Given the description of an element on the screen output the (x, y) to click on. 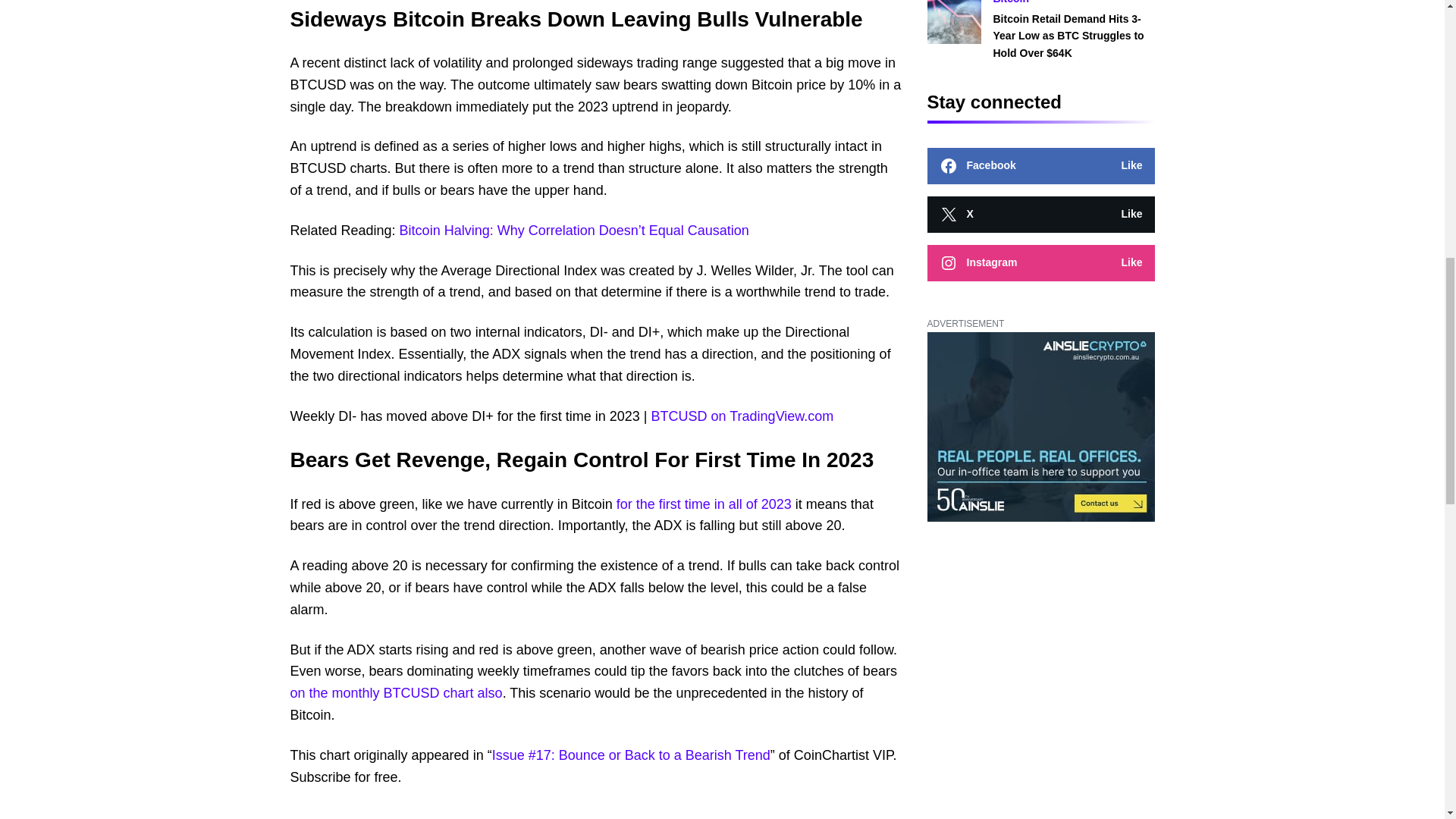
for the first time in all of 2023 (703, 503)
on the monthly BTCUSD chart also (395, 693)
BTCUSD on TradingView.com (742, 416)
